Given the description of an element on the screen output the (x, y) to click on. 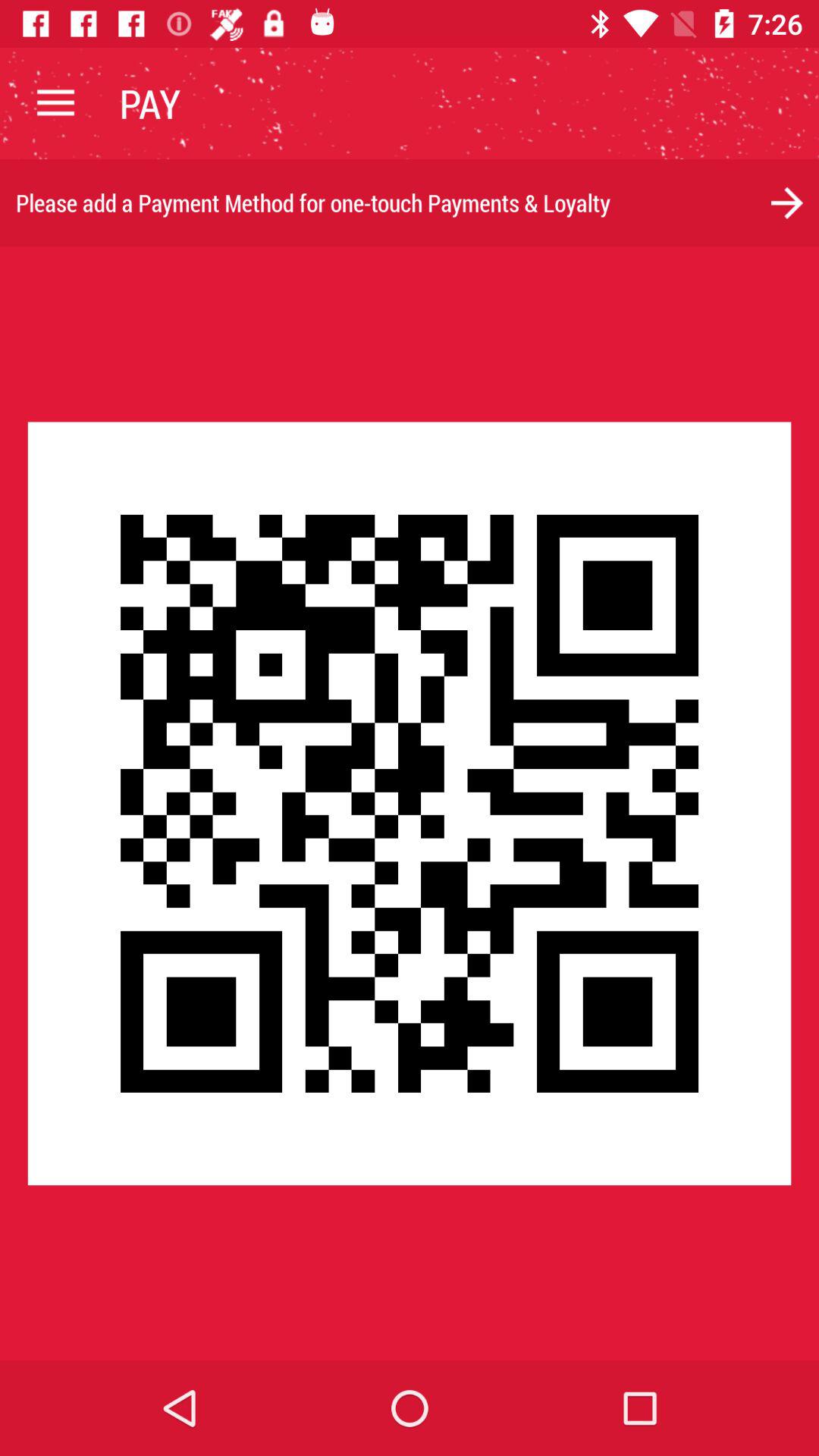
tap the item next to pay item (55, 103)
